Given the description of an element on the screen output the (x, y) to click on. 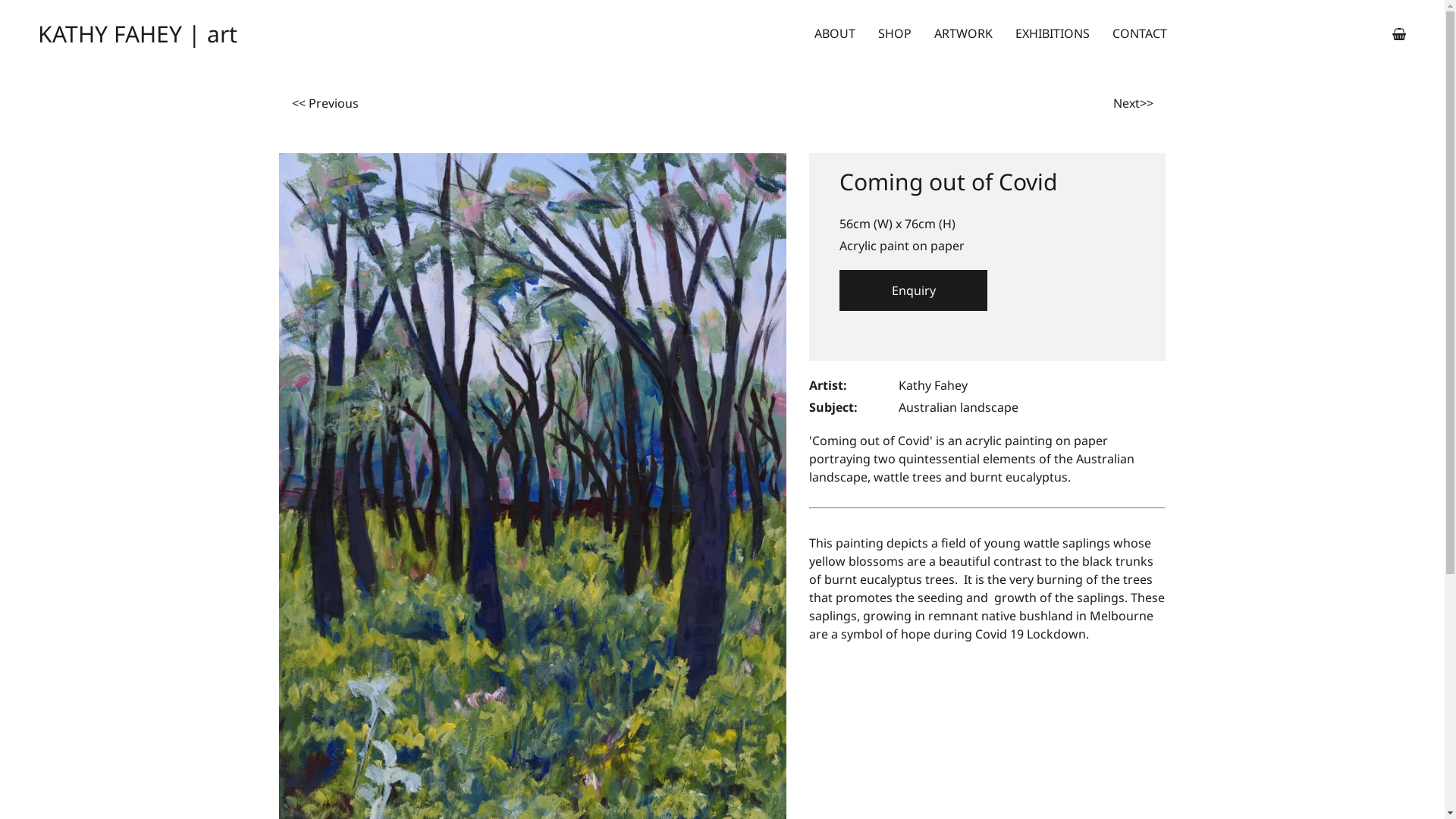
Next>> Element type: text (1132, 102)
CONTACT Element type: text (1139, 33)
ABOUT Element type: text (834, 33)
Enquiry Element type: text (913, 289)
<< Previous Element type: text (325, 102)
EXHIBITIONS Element type: text (1052, 33)
ARTWORK Element type: text (963, 33)
SHOP Element type: text (894, 33)
KATHY FAHEY | art Element type: text (208, 33)
